Given the description of an element on the screen output the (x, y) to click on. 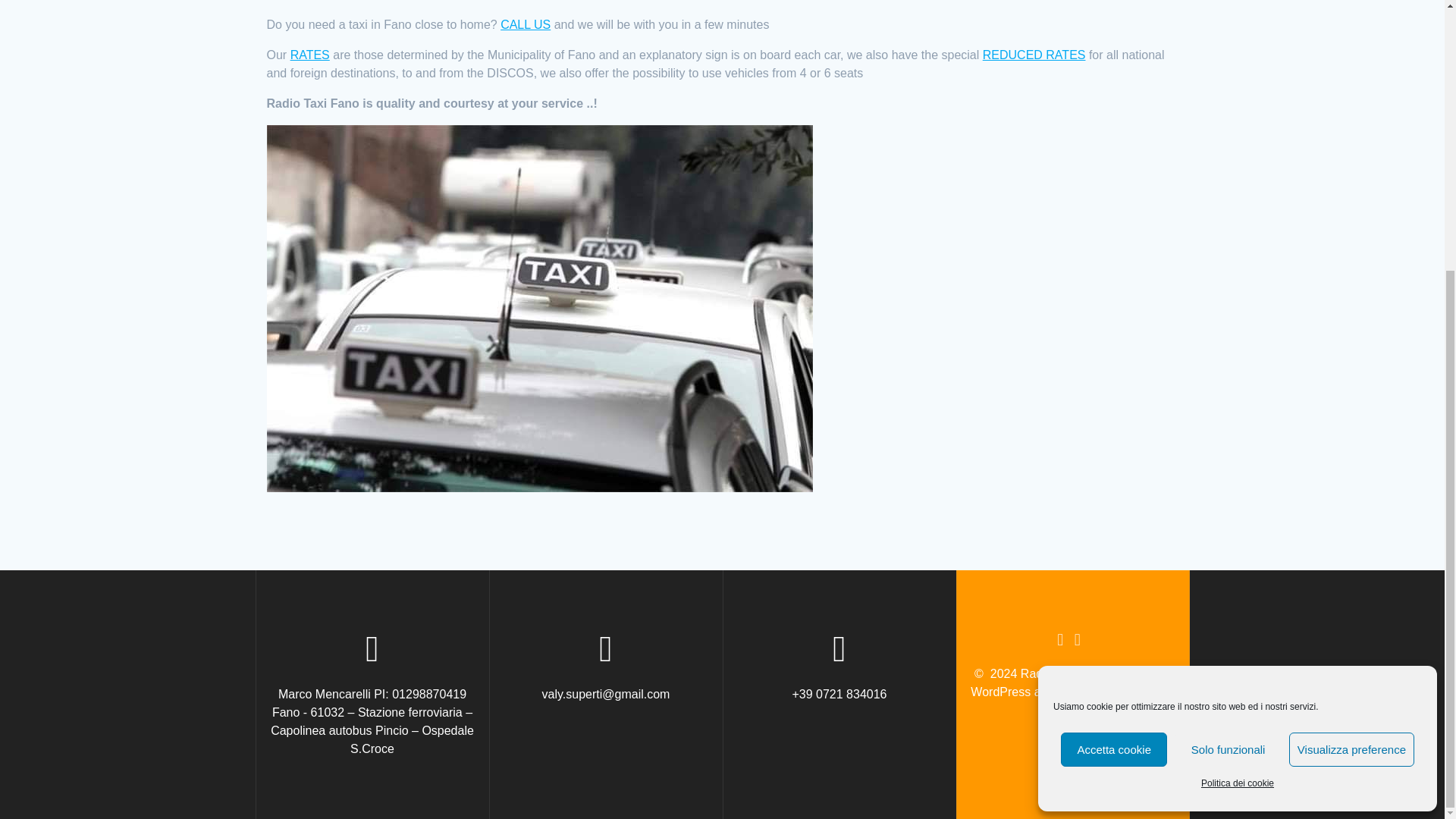
REDUCED RATES (1034, 54)
RATES (309, 54)
Solo funzionali (1227, 353)
Politica dei cookie (1237, 387)
Accetta cookie (1114, 353)
CALL US (525, 24)
Mesmerize theme (1125, 691)
Visualizza preference (1350, 353)
